Given the description of an element on the screen output the (x, y) to click on. 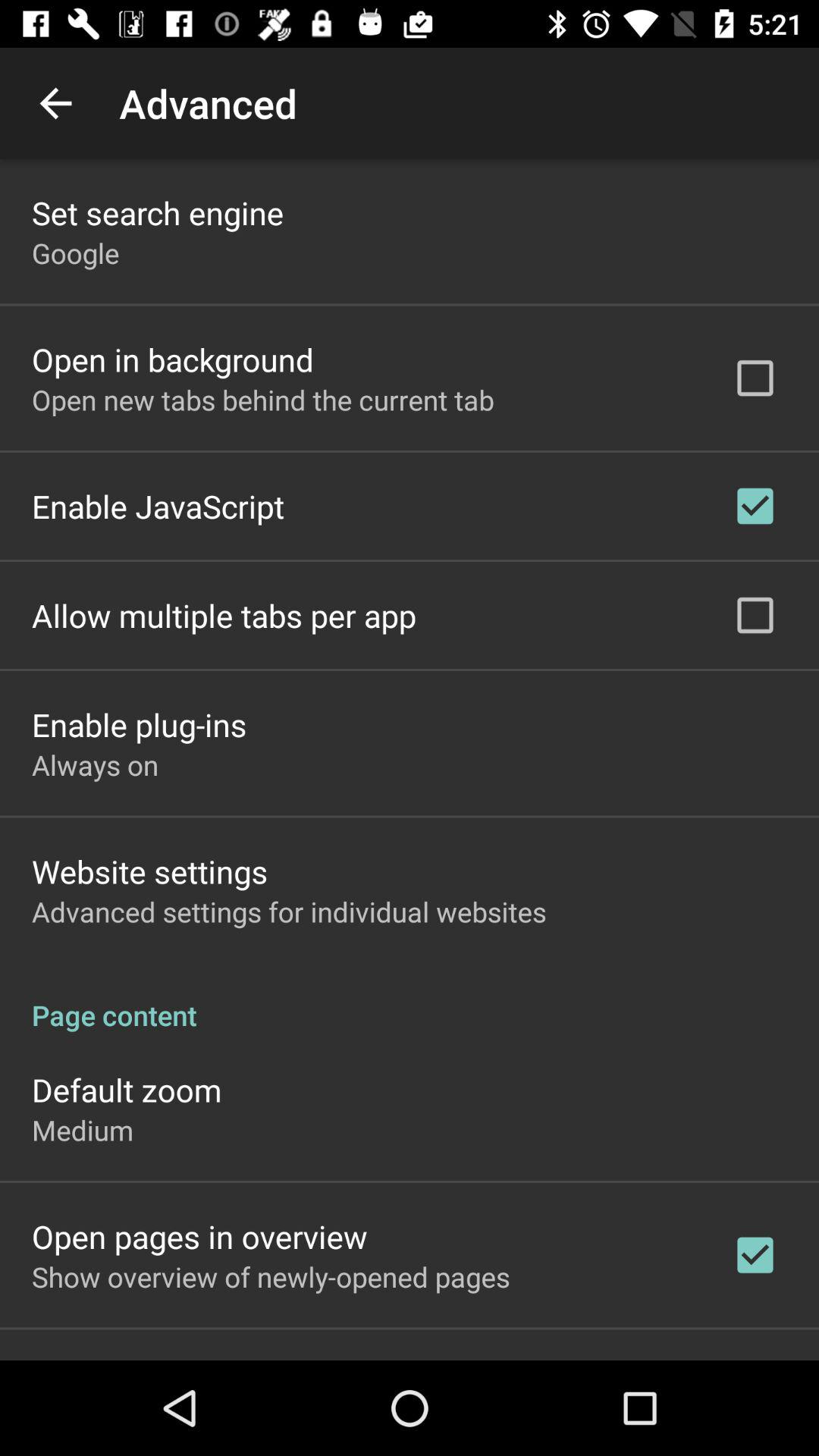
tap the enable javascript (157, 505)
